Given the description of an element on the screen output the (x, y) to click on. 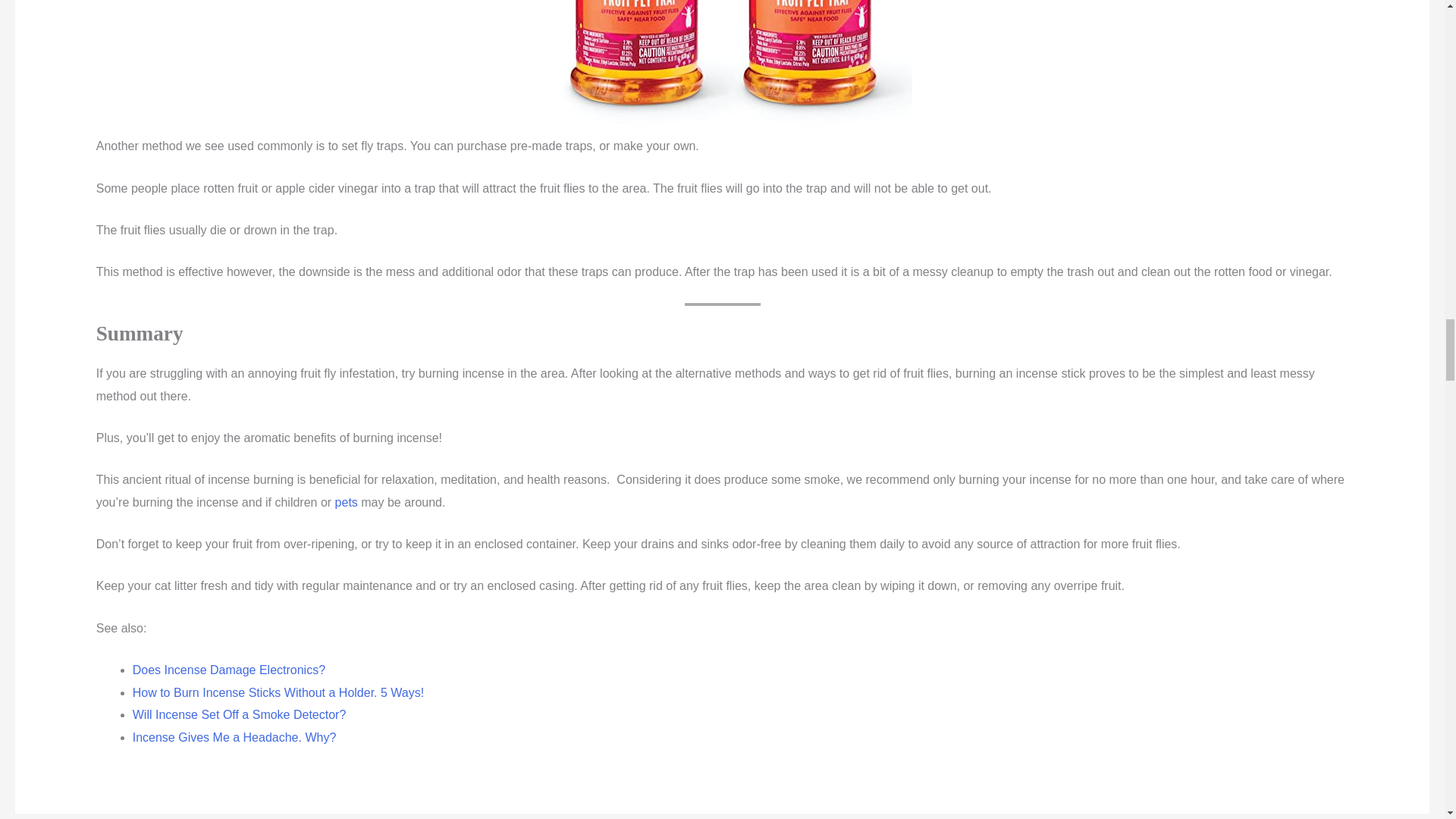
pets (346, 502)
How to Burn Incense Sticks Without a Holder. 5 Ways! (277, 692)
Will Incense Set Off a Smoke Detector? (239, 714)
Does Incense Damage Electronics? (228, 669)
